Given the description of an element on the screen output the (x, y) to click on. 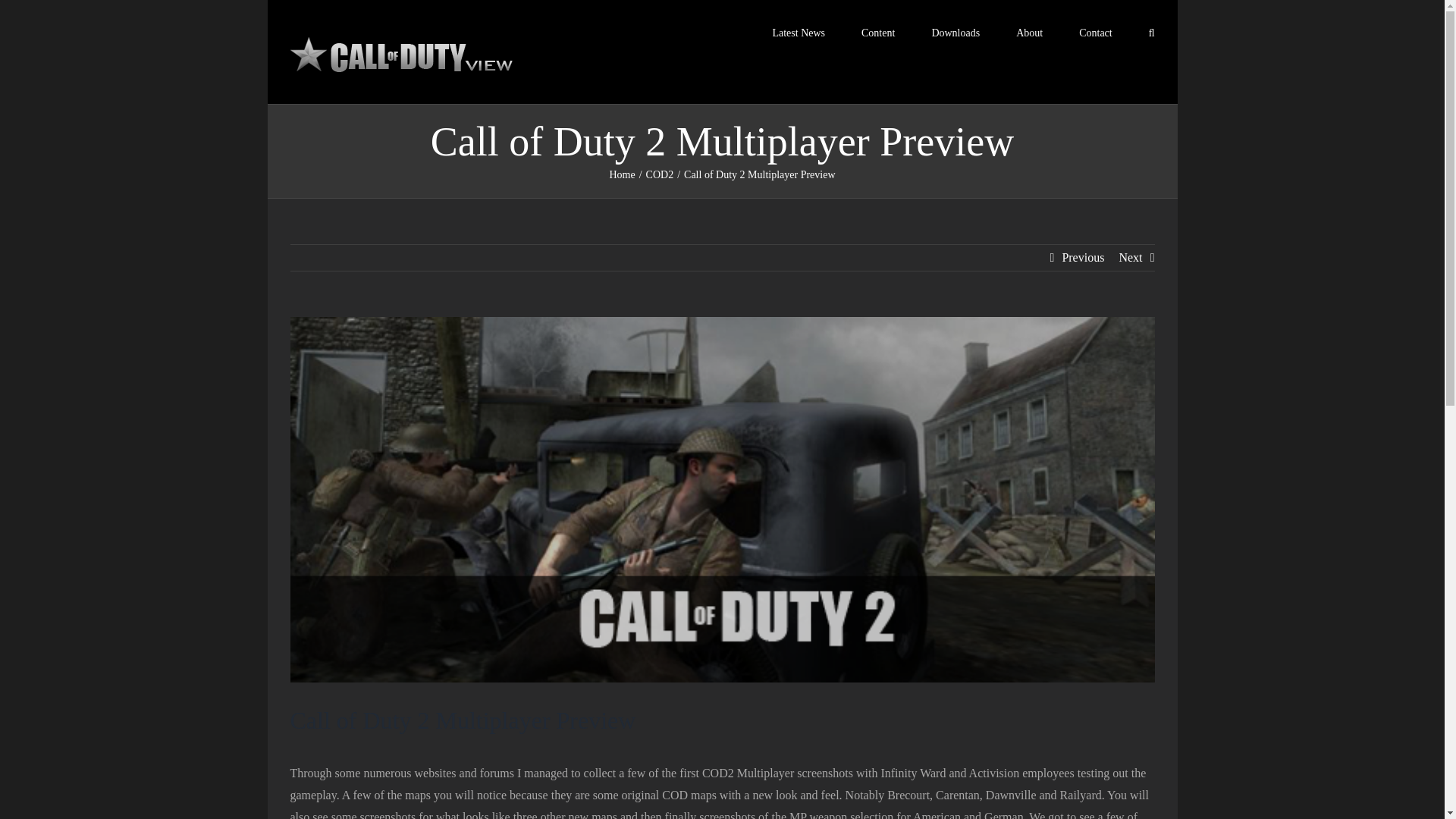
Home (621, 174)
Search (1151, 31)
Next (1129, 257)
Latest News (798, 31)
About (1029, 31)
Contact (1095, 31)
Previous (1082, 257)
COD2 (660, 174)
Downloads (955, 31)
Content (878, 31)
